Given the description of an element on the screen output the (x, y) to click on. 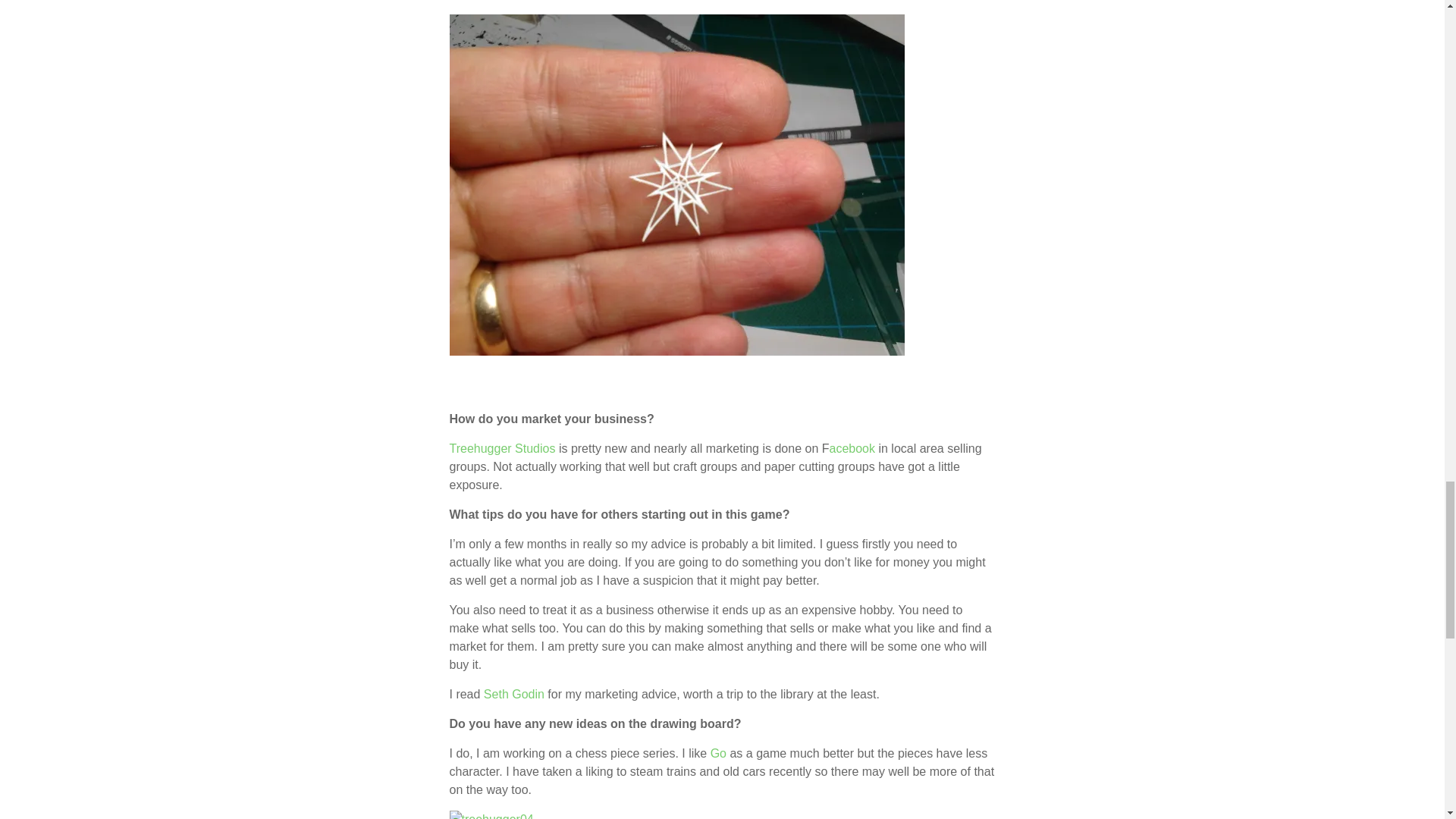
Seth Godin (513, 694)
Go (718, 753)
Go (718, 753)
Treehugger Studios (501, 448)
acebook (852, 448)
Seth Godin (513, 694)
